Given the description of an element on the screen output the (x, y) to click on. 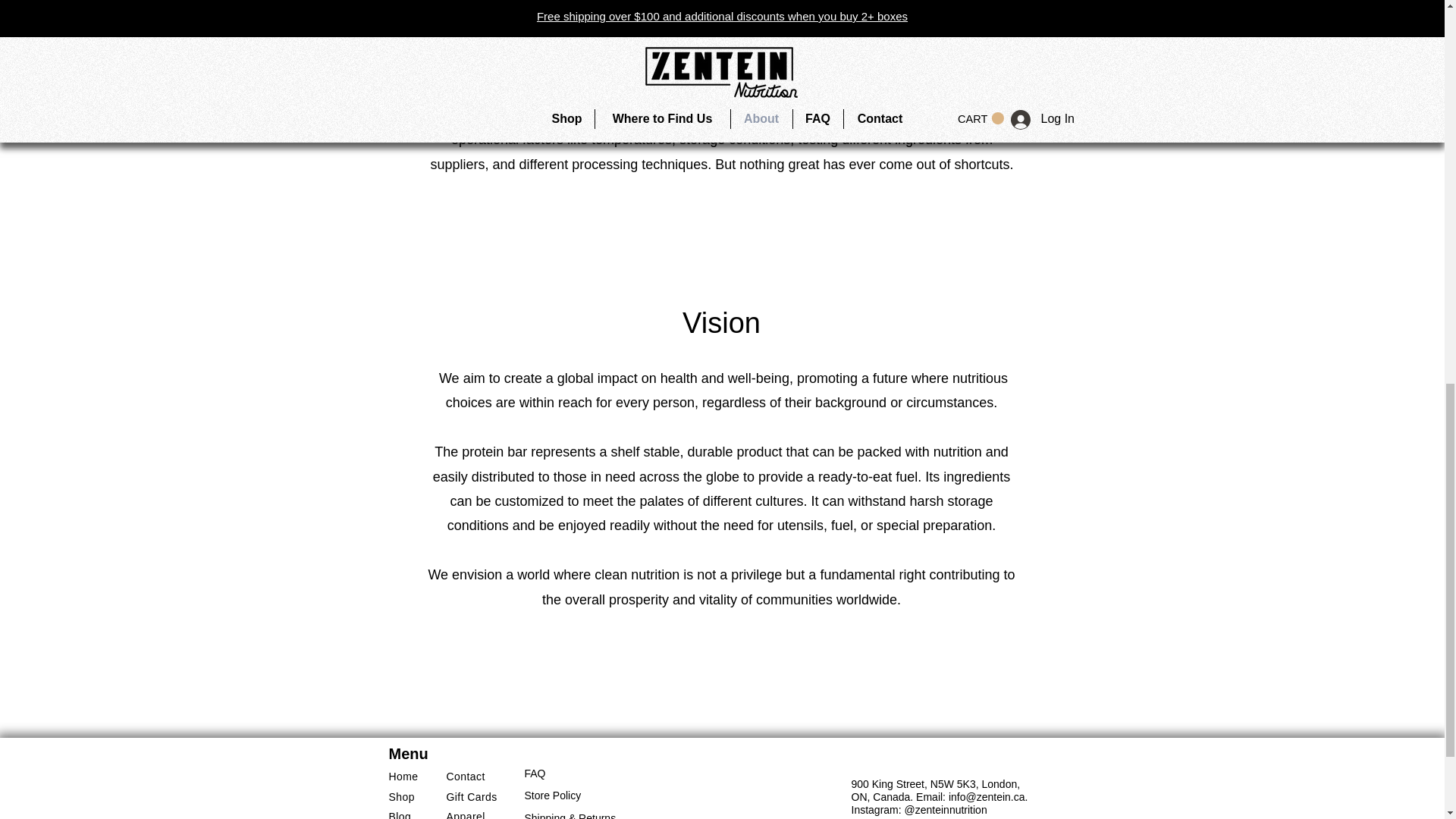
Gift Cards (470, 797)
Apparel (464, 814)
FAQ (535, 773)
Shop (400, 797)
Contact (464, 776)
Blog (399, 814)
Store Policy (552, 795)
Home (402, 776)
